Given the description of an element on the screen output the (x, y) to click on. 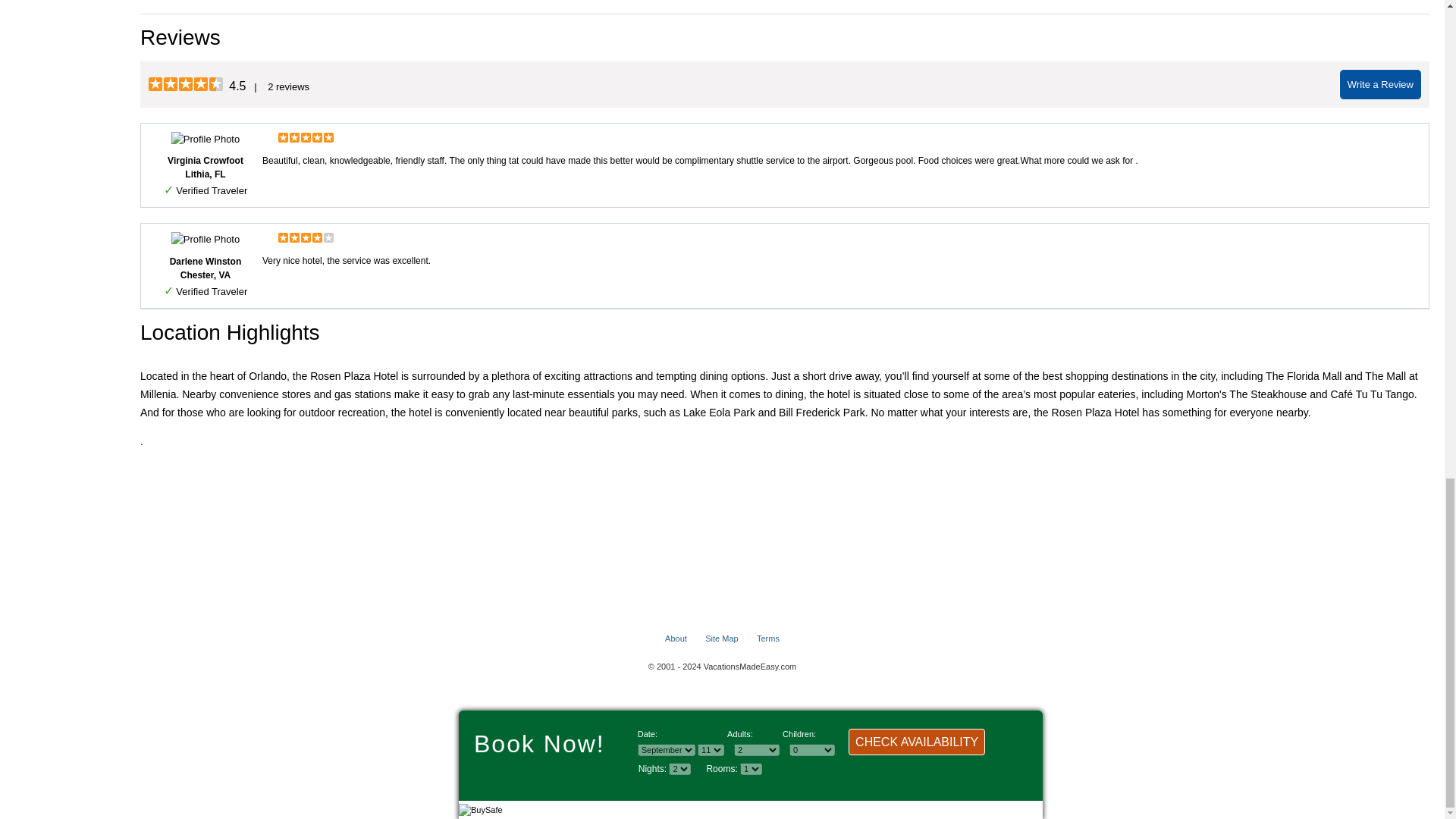
Write a Review (1380, 84)
Terms (767, 637)
About (676, 637)
Site Map (721, 637)
